Given the description of an element on the screen output the (x, y) to click on. 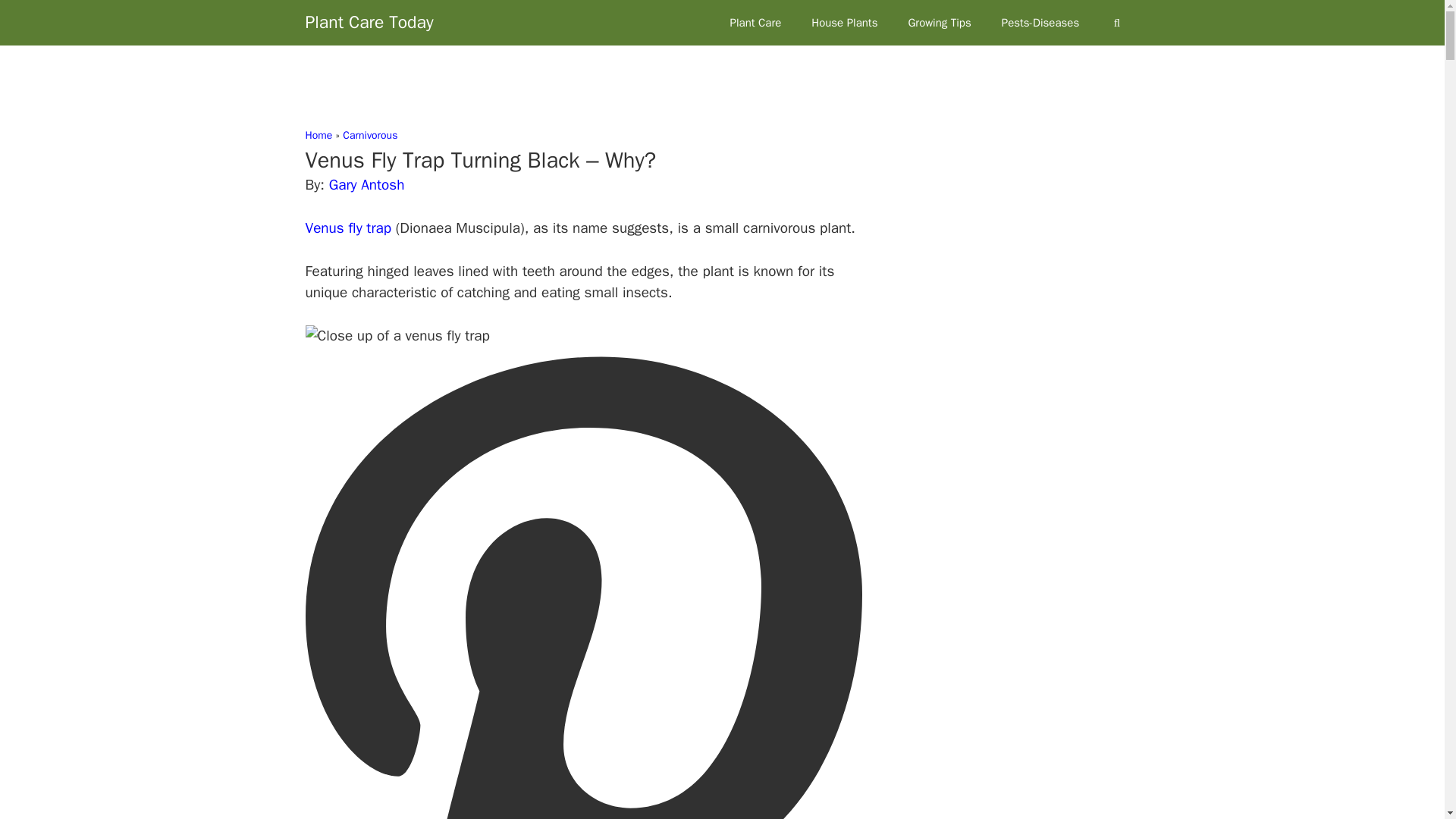
Plant Care (755, 22)
Pests-Diseases (1040, 22)
Gary Antosh (366, 185)
Venus fly trap (347, 228)
Growing Tips (938, 22)
Home (317, 134)
Carnivorous (369, 134)
Plant Care Today (368, 22)
House Plants (844, 22)
